Given the description of an element on the screen output the (x, y) to click on. 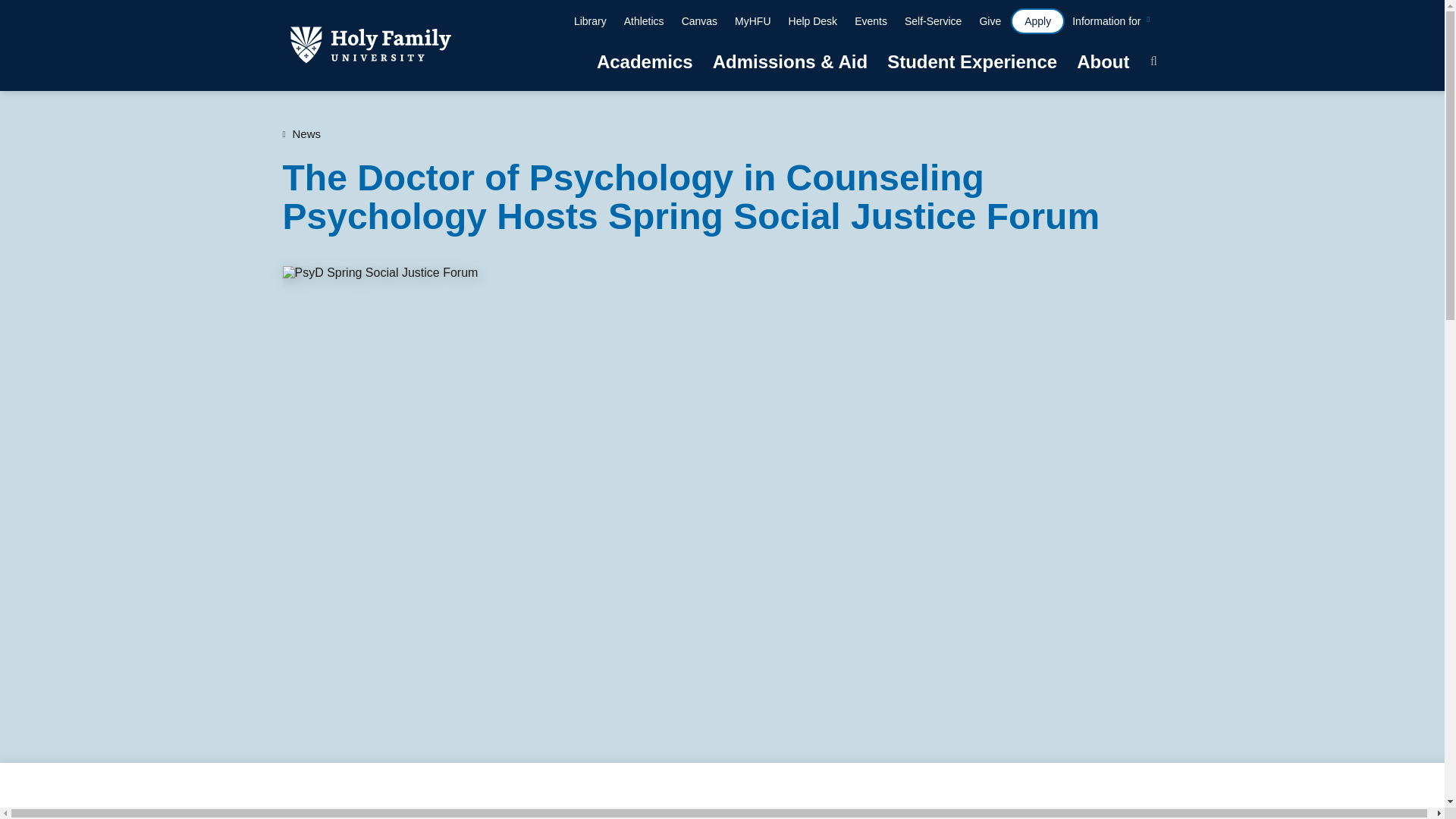
Events (871, 22)
Library (590, 22)
Athletics (643, 22)
Help Desk (812, 22)
Canvas (699, 22)
Academics (644, 69)
Self-Service (932, 22)
MyHFU (751, 22)
Apply (1037, 21)
